Given the description of an element on the screen output the (x, y) to click on. 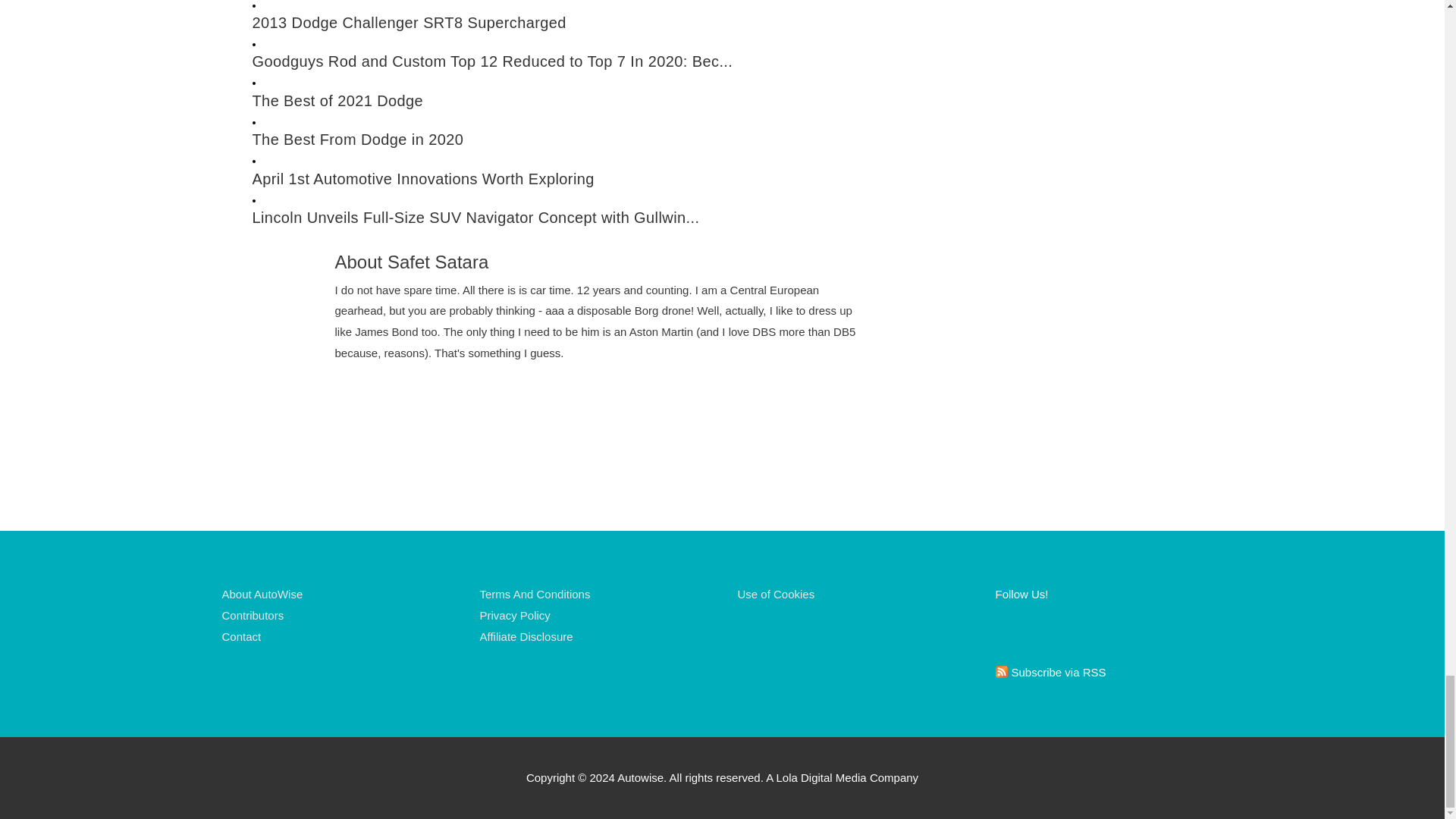
The Best of 2021 Dodge (562, 100)
April 1st Automotive Innovations Worth Exploring (562, 179)
The Best From Dodge in 2020 (562, 139)
2013 Dodge Challenger SRT8 Supercharged (562, 22)
